Given the description of an element on the screen output the (x, y) to click on. 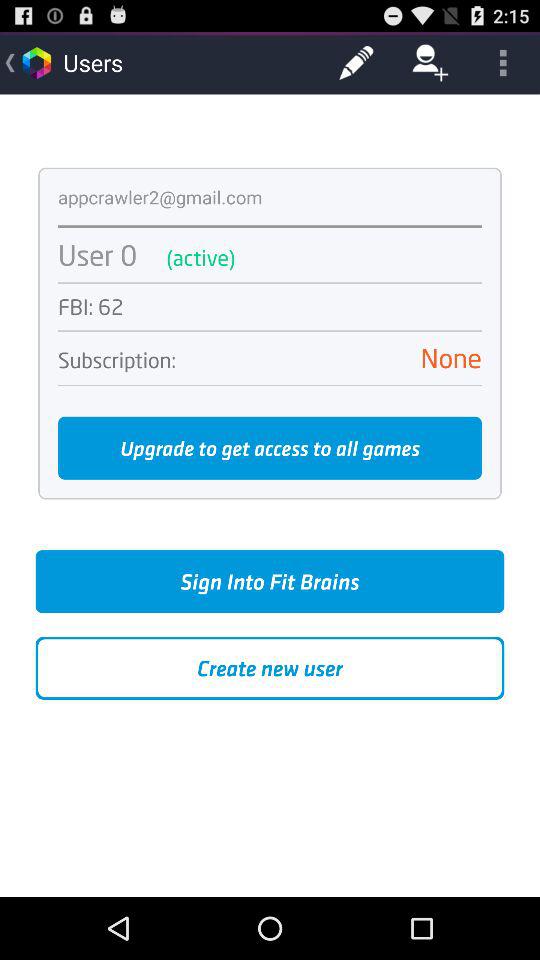
press the item to the right of users icon (356, 62)
